Given the description of an element on the screen output the (x, y) to click on. 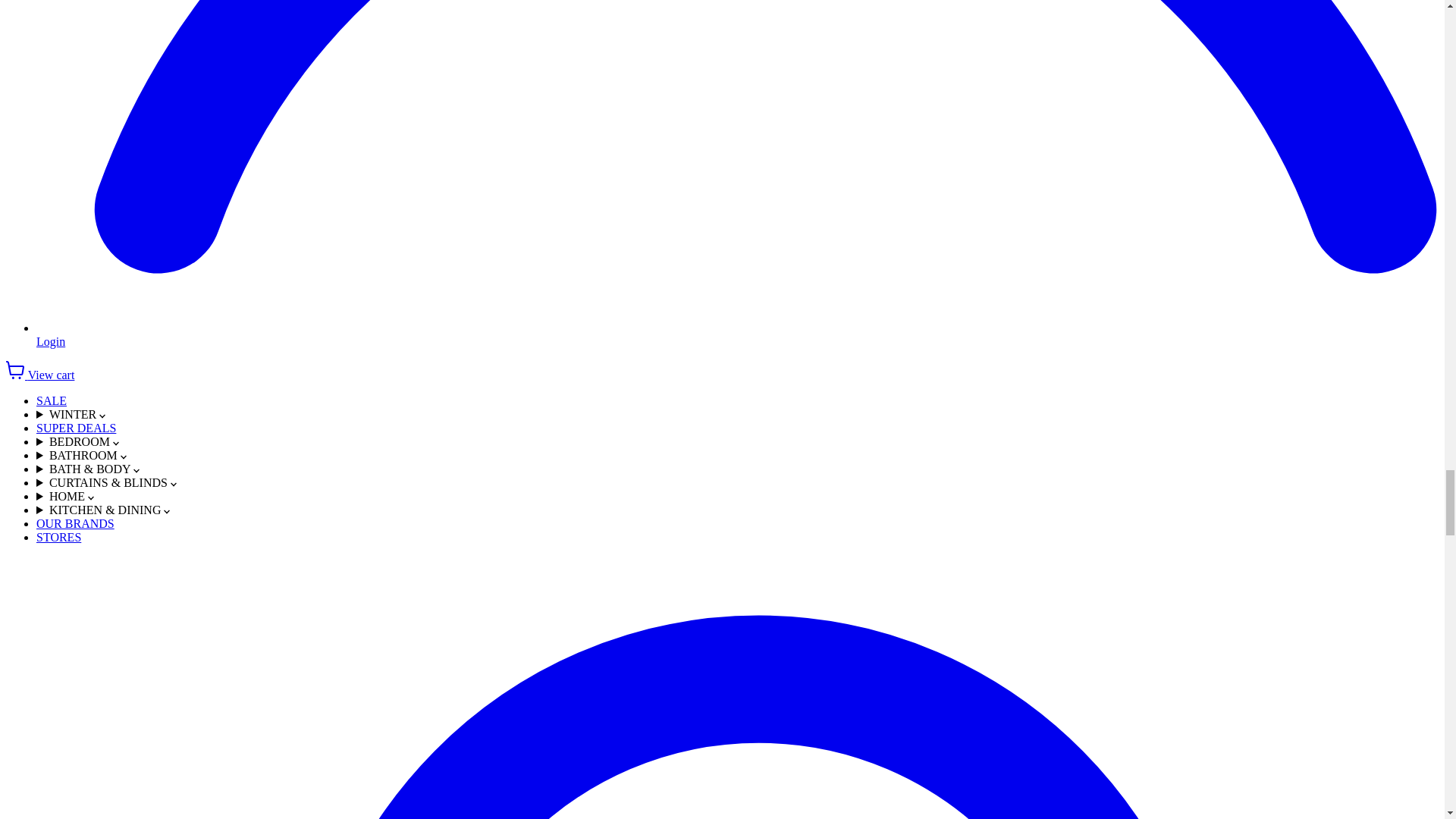
SALE (51, 400)
View cart (39, 374)
SUPER DEALS (76, 427)
